Given the description of an element on the screen output the (x, y) to click on. 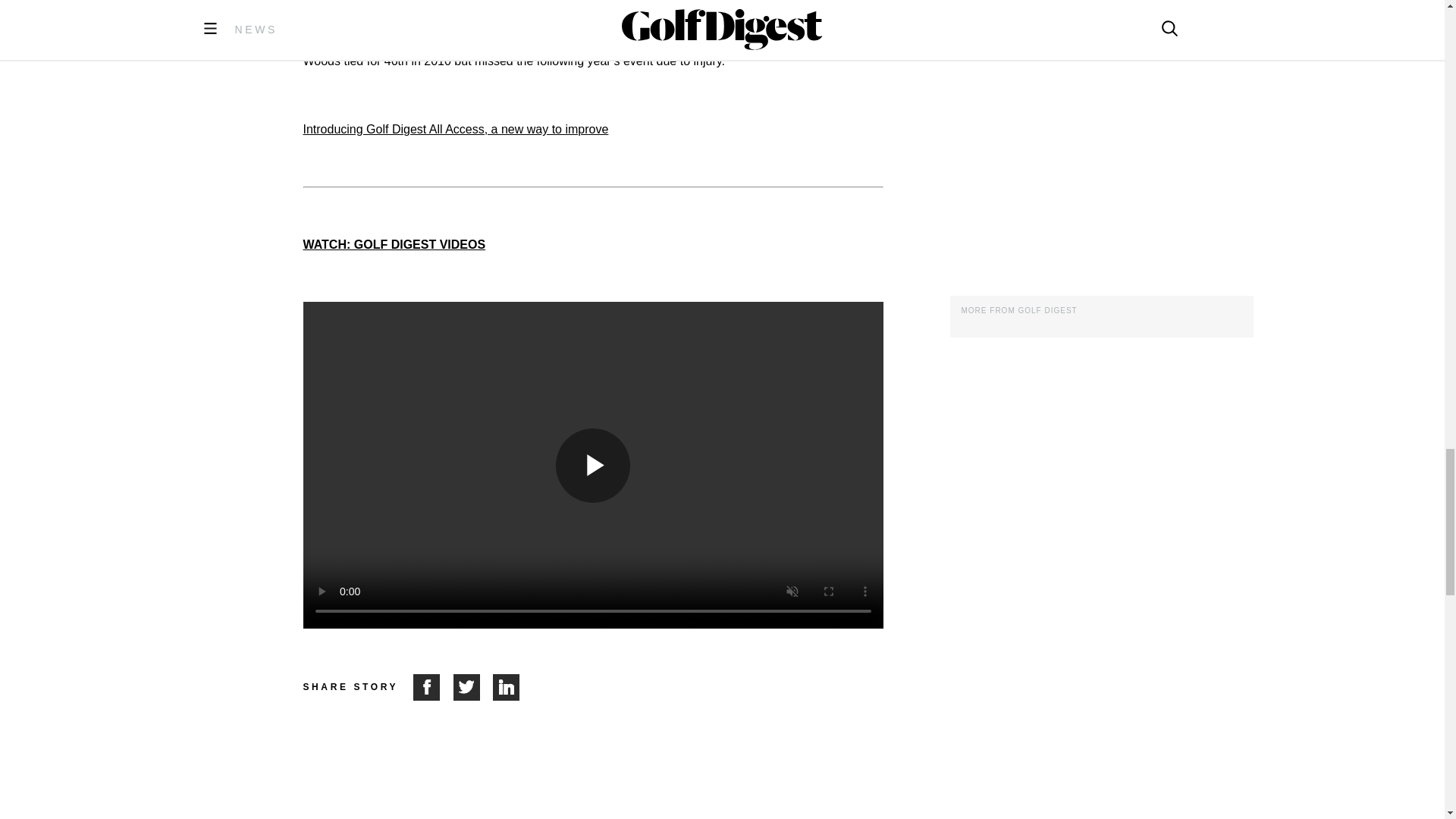
Play Video (593, 465)
Share on Facebook (432, 687)
Share on LinkedIn (506, 687)
Share on Twitter (472, 687)
